Given the description of an element on the screen output the (x, y) to click on. 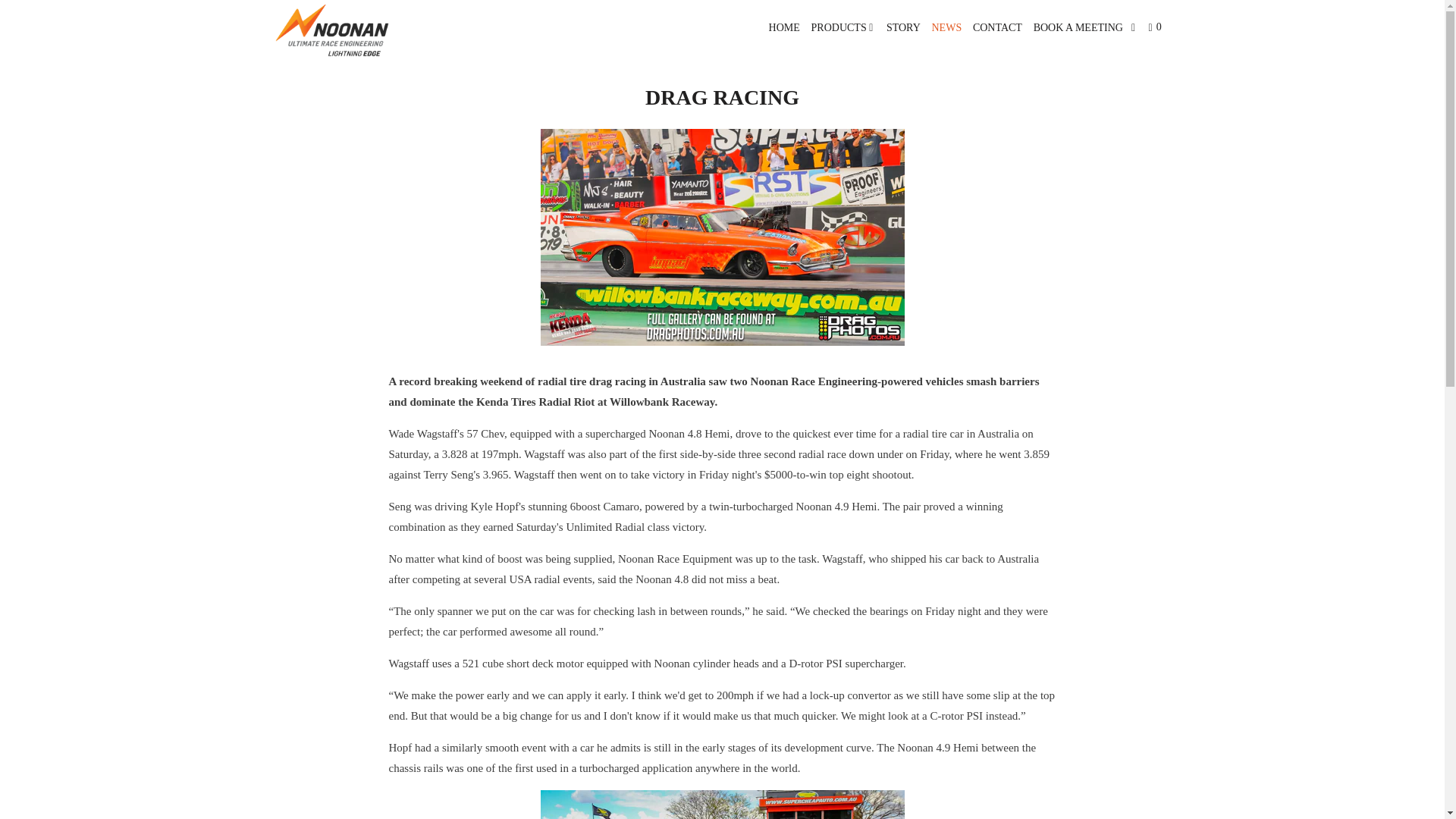
Noonan - Ultimate Race Engineering (352, 30)
